Given the description of an element on the screen output the (x, y) to click on. 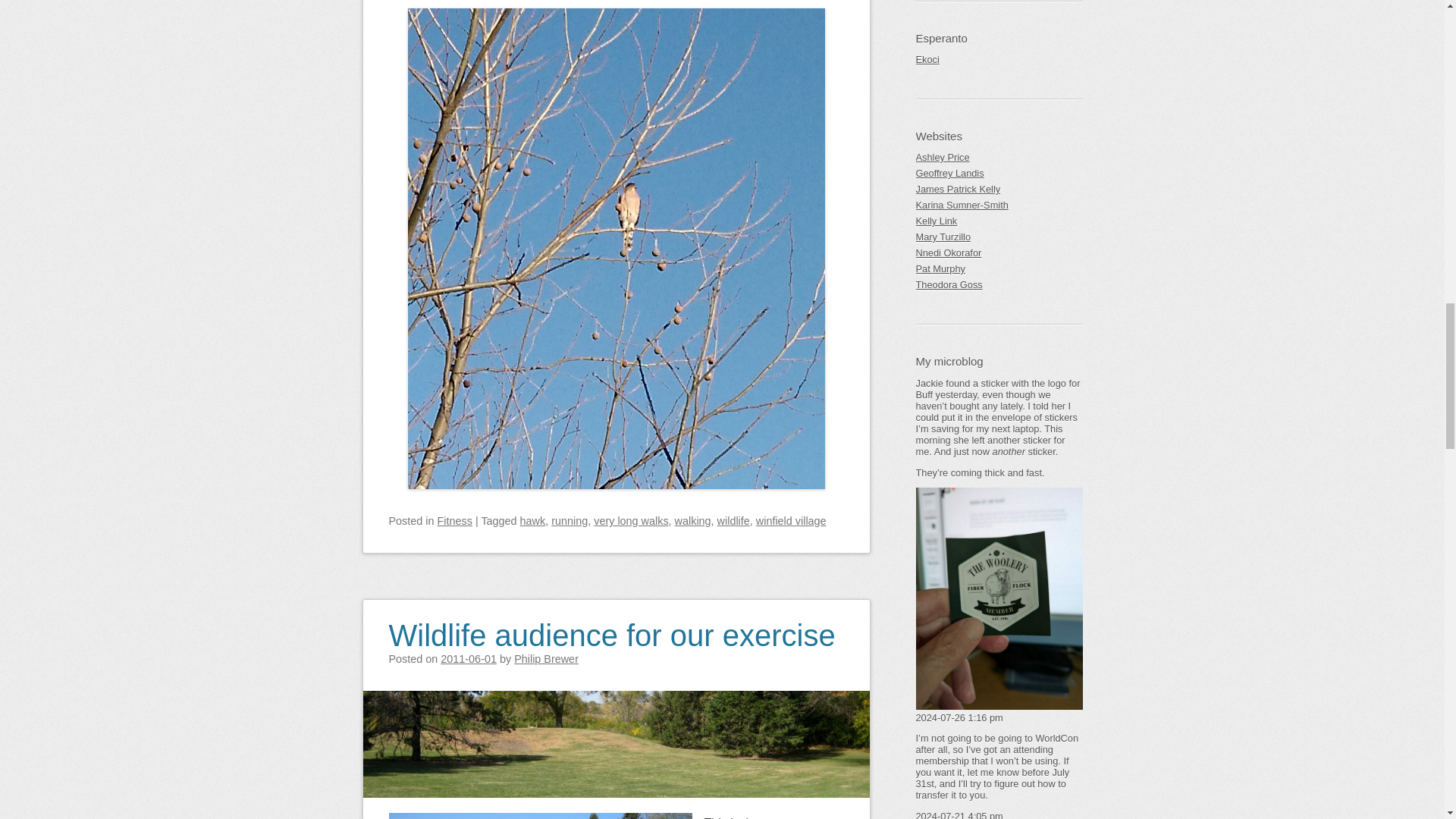
very long walks (631, 521)
hawk (532, 521)
2011-06-01 (468, 658)
walking (693, 521)
Permalink to Wildlife audience for our exercise (611, 625)
winfield village (791, 521)
wildlife (733, 521)
Wildlife audience for our exercise (611, 625)
3:45 pm (468, 658)
Fitness (454, 521)
running (569, 521)
Philip Brewer (545, 658)
taiji-spot (539, 816)
View all posts by Philip Brewer (545, 658)
